Given the description of an element on the screen output the (x, y) to click on. 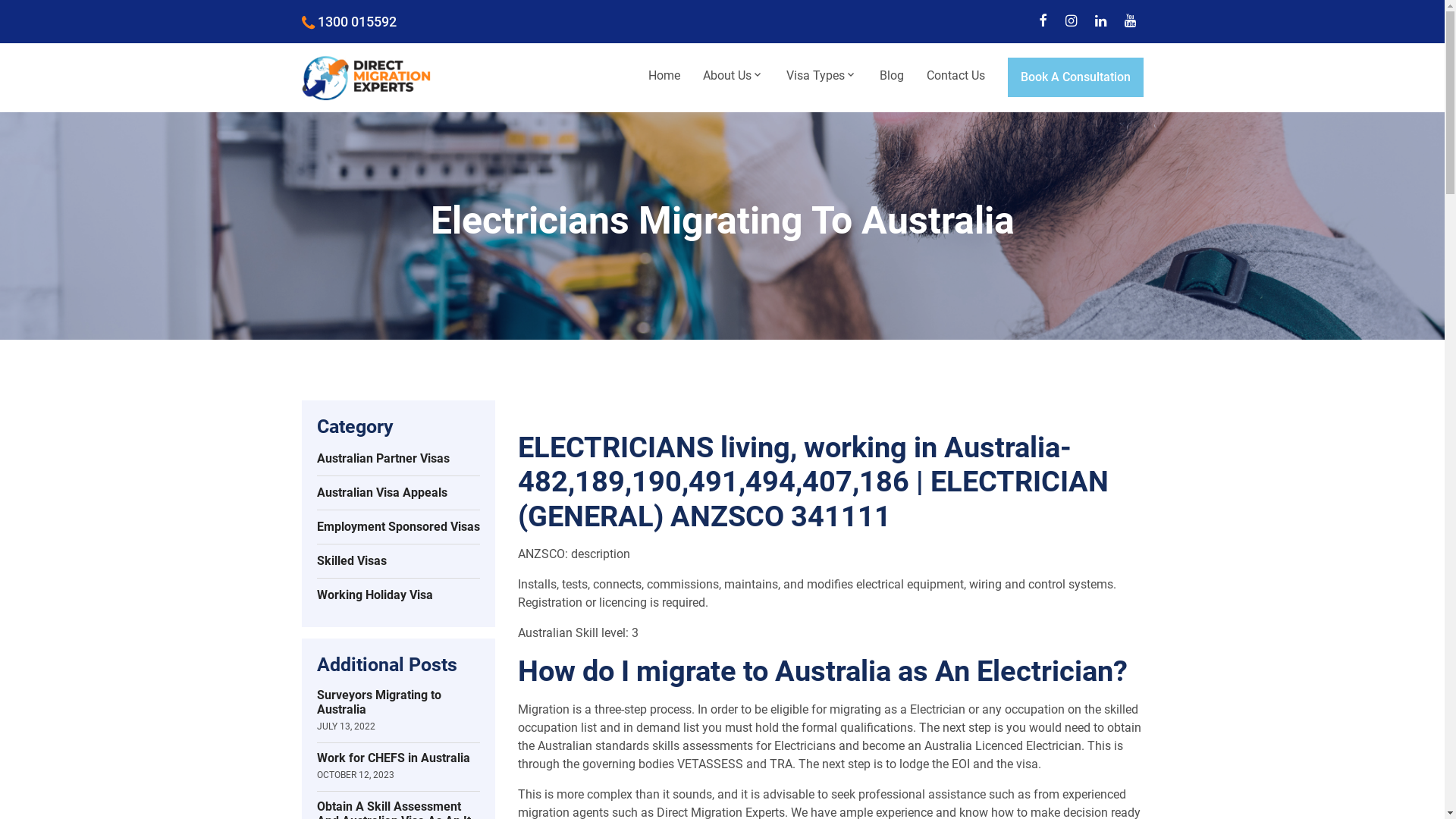
Home Element type: text (664, 75)
Australian Partner Visas Element type: text (398, 459)
1300 015592 Element type: text (348, 21)
Skilled Visas Element type: text (398, 561)
Contact Us Element type: text (954, 75)
Surveyors Migrating to Australia
JULY 13, 2022 Element type: text (398, 709)
Blog Element type: text (890, 75)
About Us Element type: text (733, 75)
Employment Sponsored Visas Element type: text (398, 527)
Working Holiday Visa Element type: text (398, 594)
Work for CHEFS in Australia
OCTOBER 12, 2023 Element type: text (398, 765)
Visa Types Element type: text (821, 75)
Australian Visa Appeals Element type: text (398, 493)
Book A Consultation Element type: text (1074, 77)
